Given the description of an element on the screen output the (x, y) to click on. 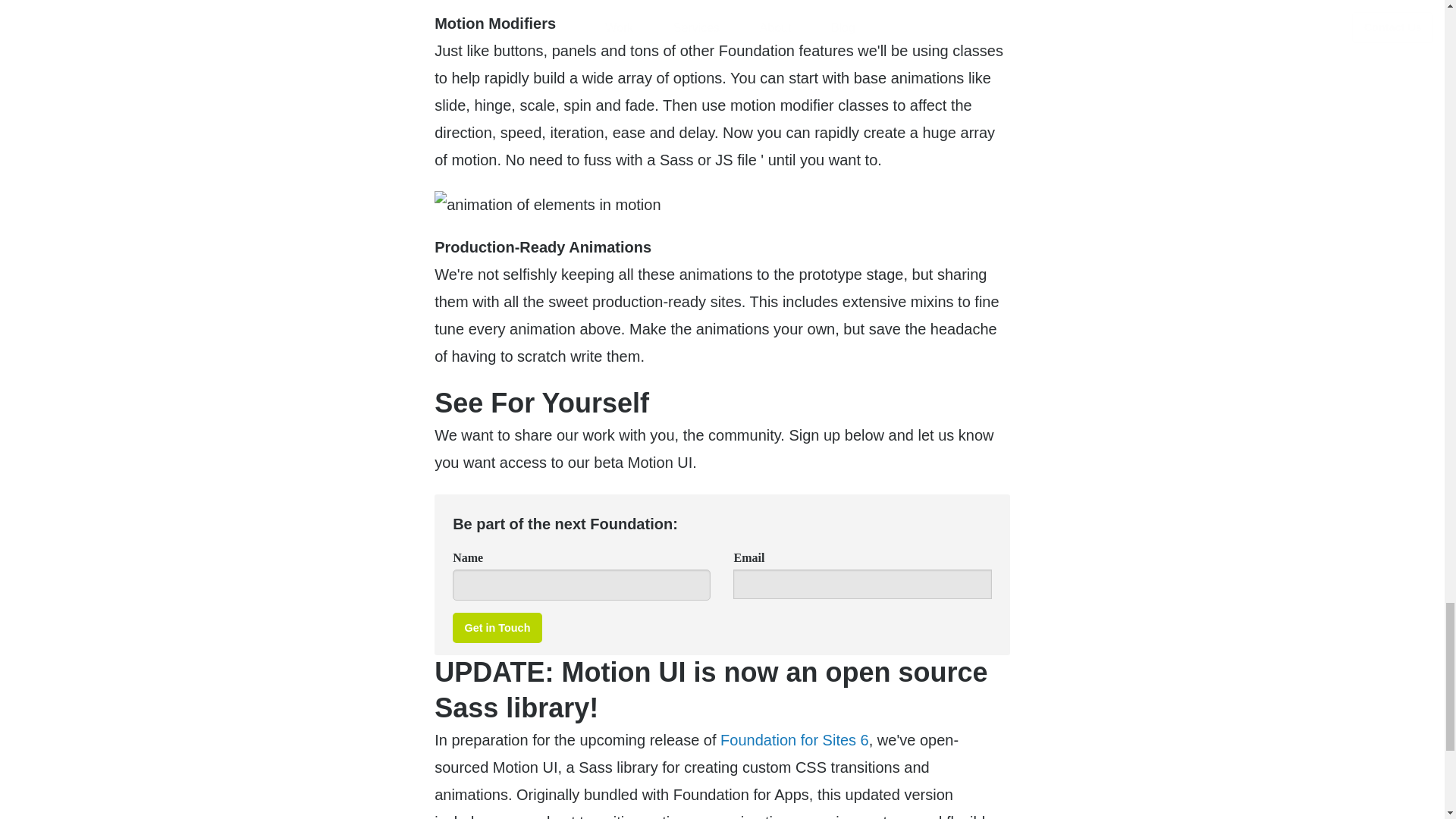
Get in Touch (496, 627)
Foundation for Sites 6 (794, 740)
